Given the description of an element on the screen output the (x, y) to click on. 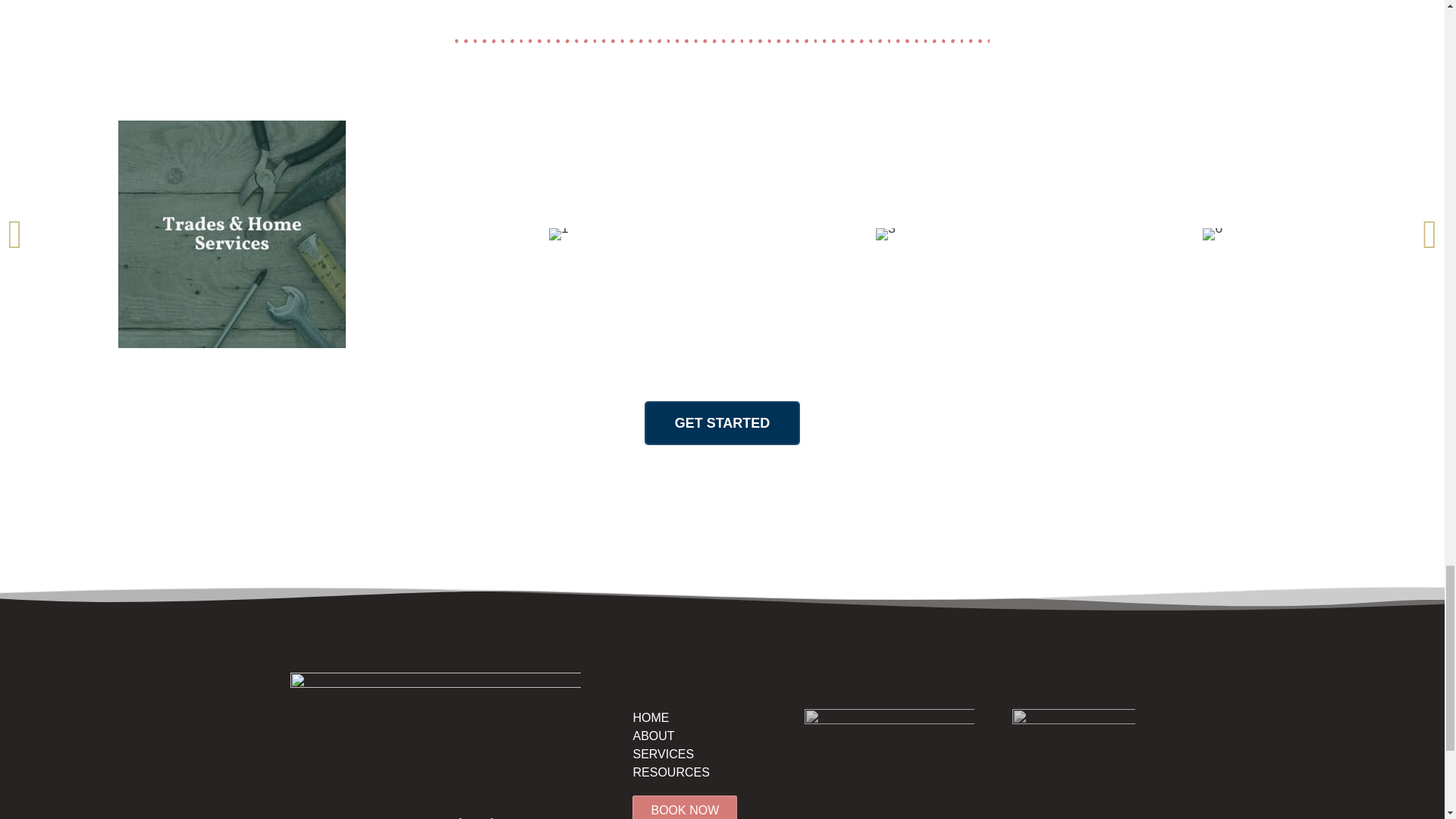
BOOK NOW (683, 807)
SERVICES (662, 753)
RESOURCES (670, 771)
ABOUT (652, 735)
HOME (649, 717)
GET STARTED (722, 423)
